Given the description of an element on the screen output the (x, y) to click on. 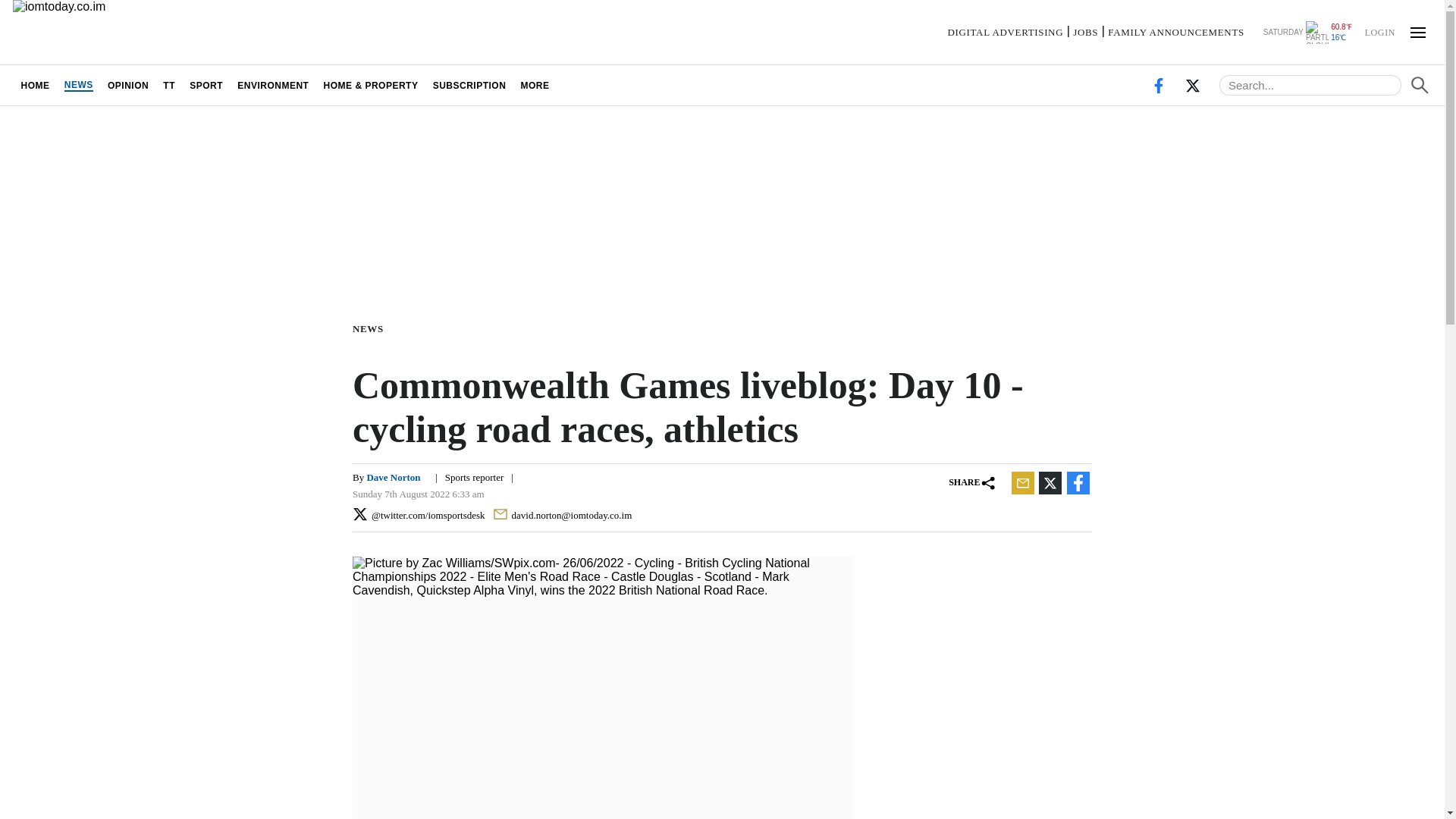
SPORT (206, 85)
NEWS (78, 85)
OPINION (127, 85)
HOME (34, 85)
SUBSCRIPTION (469, 85)
MORE (534, 85)
Dave Norton (394, 477)
ENVIRONMENT (272, 85)
NEWS (371, 328)
LOGIN (1379, 31)
